Given the description of an element on the screen output the (x, y) to click on. 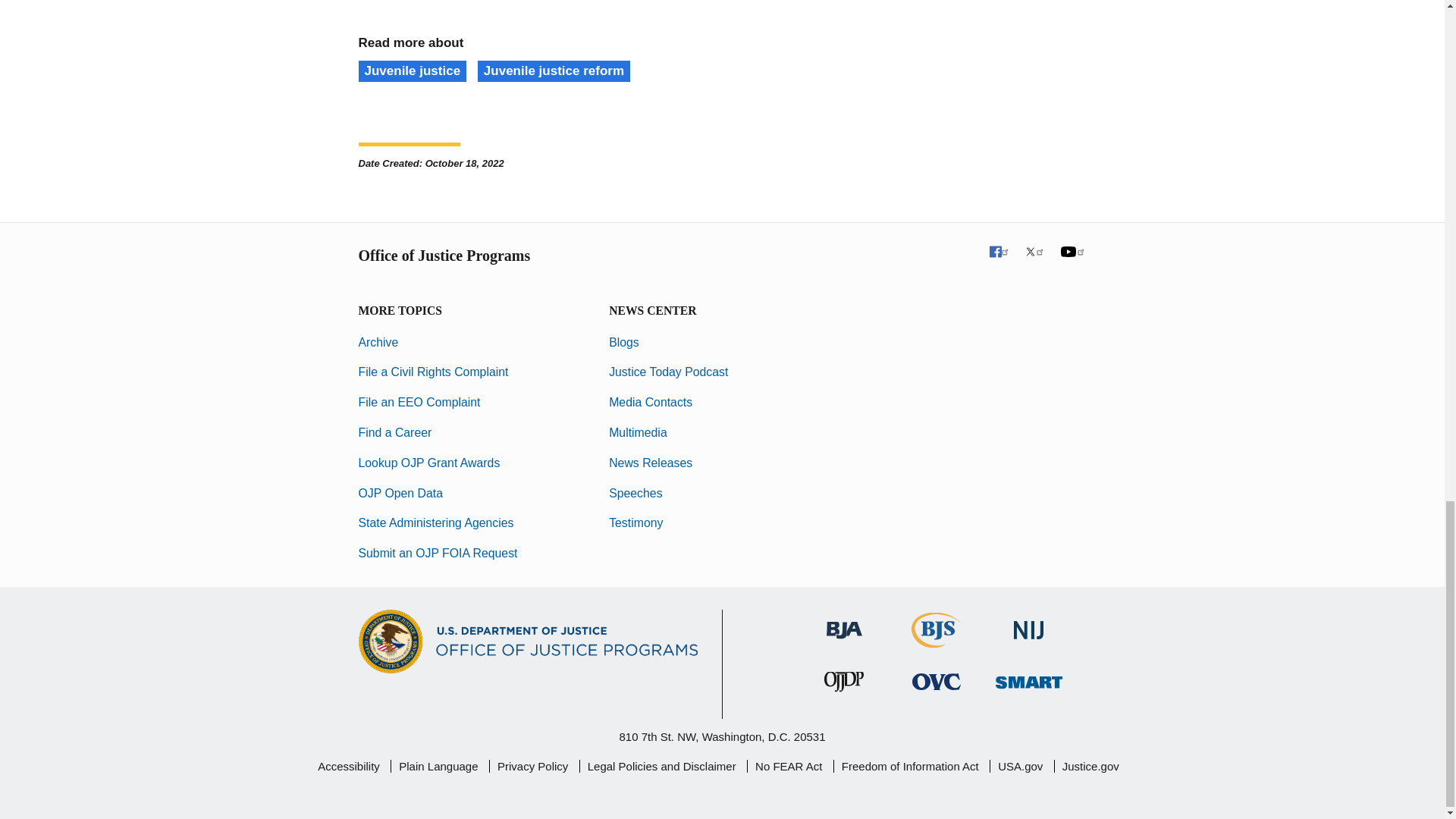
Juvenile justice reform (553, 70)
Juvenile justice (411, 70)
